Given the description of an element on the screen output the (x, y) to click on. 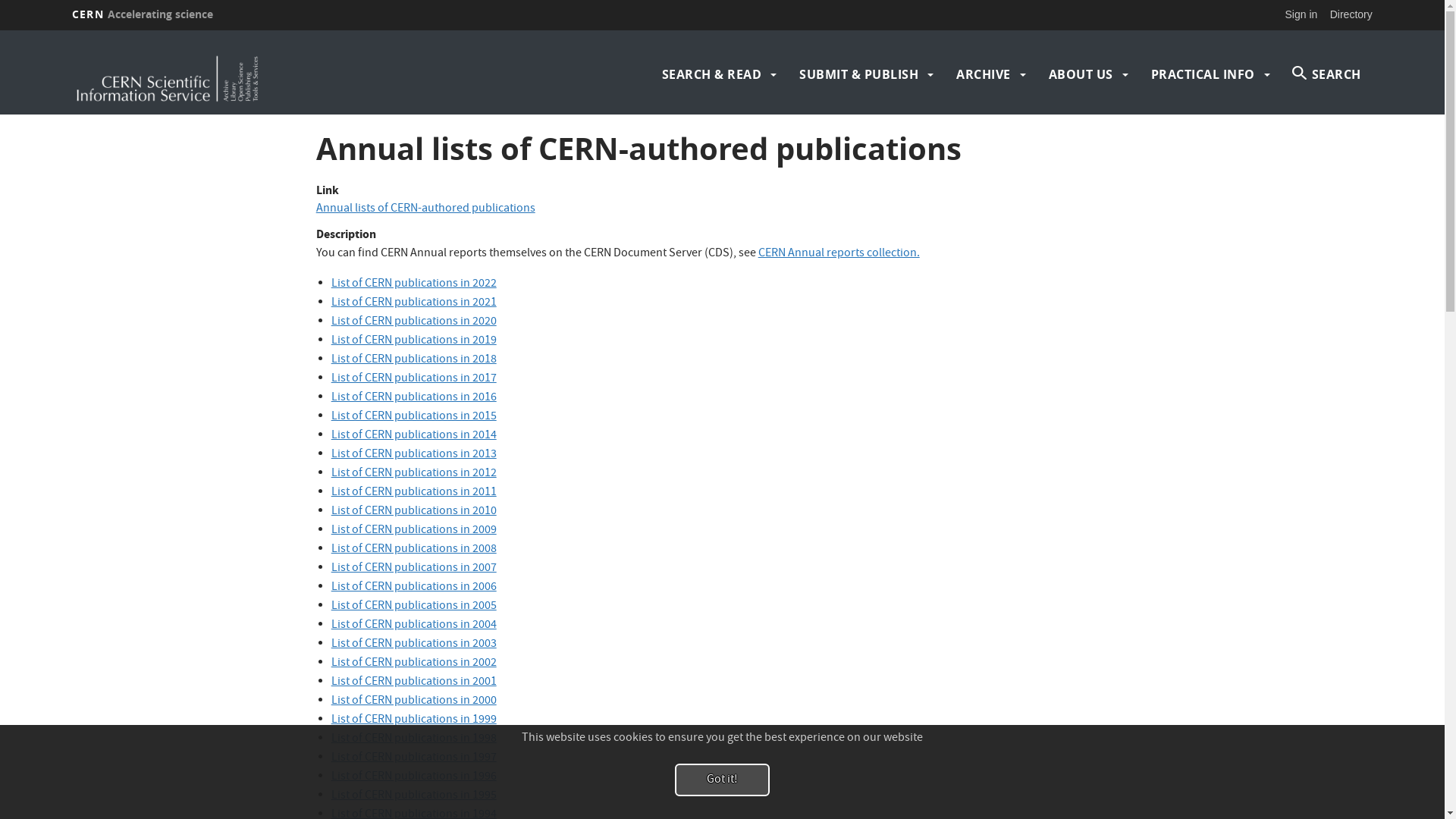
List of CERN publications in 1997 Element type: text (413, 758)
PRACTICAL INFO Element type: text (1203, 74)
List of CERN publications in 2014 Element type: text (413, 435)
List of CERN publications in 2001 Element type: text (413, 682)
List of CERN publications in 2003 Element type: text (413, 644)
CERN Annual reports collection. Element type: text (838, 253)
List of CERN publications in 2017 Element type: text (413, 379)
List of CERN publications in 2007 Element type: text (413, 568)
SEARCH Element type: text (1326, 74)
List of CERN publications in 2010 Element type: text (413, 511)
List of CERN publications in 2002 Element type: text (413, 663)
CERN Accelerating science Element type: text (142, 14)
List of CERN publications in 2020 Element type: text (413, 322)
Annual lists of CERN-authored publications Element type: text (425, 209)
List of CERN publications in 2011 Element type: text (413, 492)
List of CERN publications in 1999 Element type: text (413, 720)
List of CERN publications in 2022 Element type: text (413, 284)
List of CERN publications in 2006 Element type: text (413, 587)
List of CERN publications in 2019 Element type: text (413, 341)
List of CERN publications in 1998 Element type: text (413, 739)
ARCHIVE Element type: text (983, 74)
SUBMIT & PUBLISH Element type: text (858, 74)
List of CERN publications in 1995 Element type: text (413, 796)
List of CERN publications in 2009 Element type: text (413, 530)
ABOUT US Element type: text (1080, 74)
List of CERN publications in 2021 Element type: text (413, 303)
List of CERN publications in 2005 Element type: text (413, 606)
List of CERN publications in 2015 Element type: text (413, 416)
List of CERN publications in 2012 Element type: text (413, 473)
Skip to main content Element type: text (0, 30)
SEARCH & READ Element type: text (712, 74)
List of CERN publications in 2013 Element type: text (413, 454)
List of CERN publications in 2008 Element type: text (413, 549)
Sign in Element type: text (1301, 14)
List of CERN publications in 1996 Element type: text (413, 777)
Directory Element type: text (1351, 14)
List of CERN publications in 2016 Element type: text (413, 398)
Got it! Element type: text (721, 779)
List of CERN publications in 2004 Element type: text (413, 625)
Home Element type: hover (230, 74)
List of CERN publications in 2018 Element type: text (413, 360)
List of CERN publications in 2000 Element type: text (413, 701)
